Given the description of an element on the screen output the (x, y) to click on. 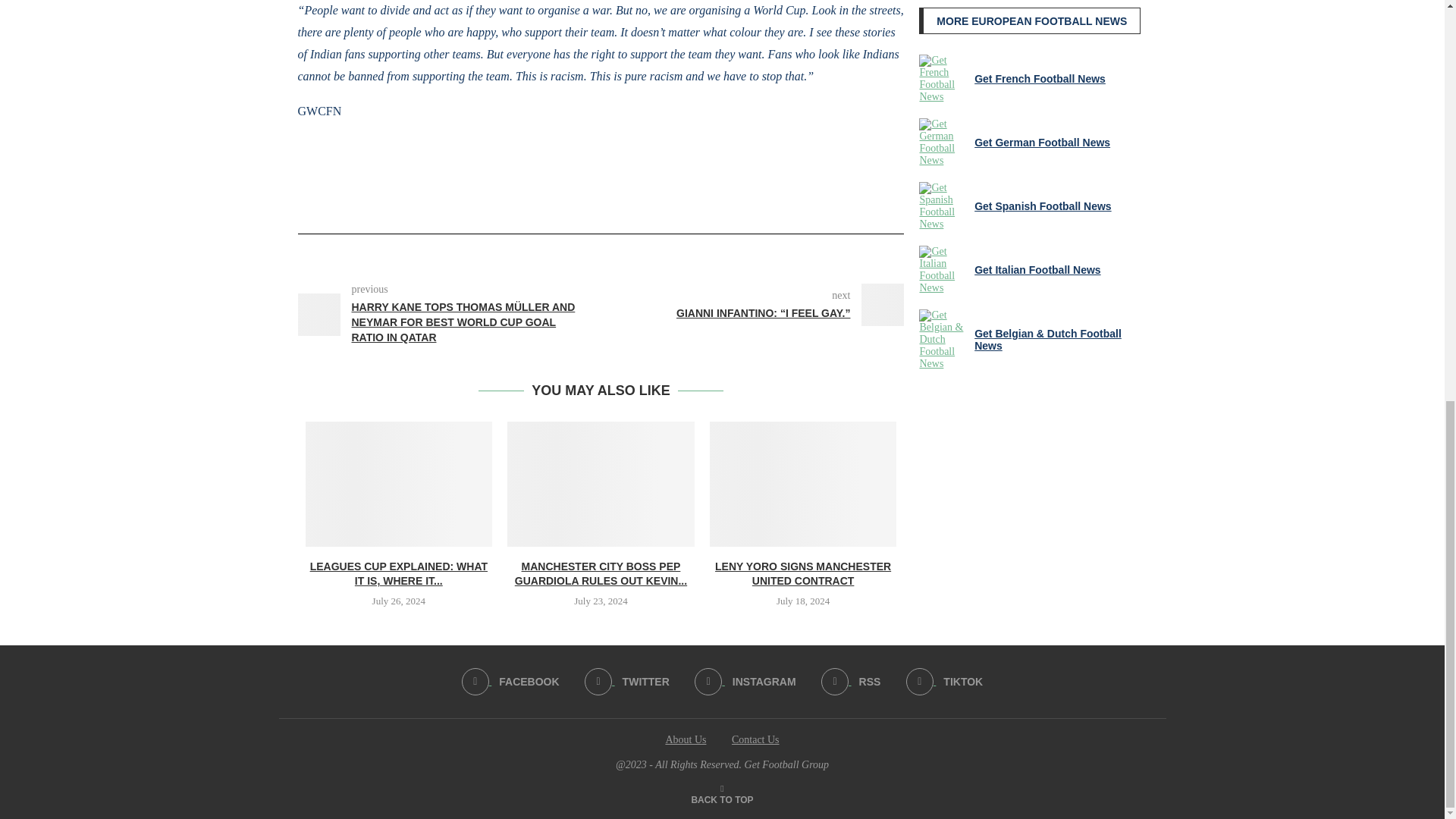
Get Spanish Football News (943, 205)
Leny Yoro signs Manchester United contract (803, 483)
Get Italian Football News (943, 269)
Get French Football News (943, 78)
Get German Football News (943, 142)
